Given the description of an element on the screen output the (x, y) to click on. 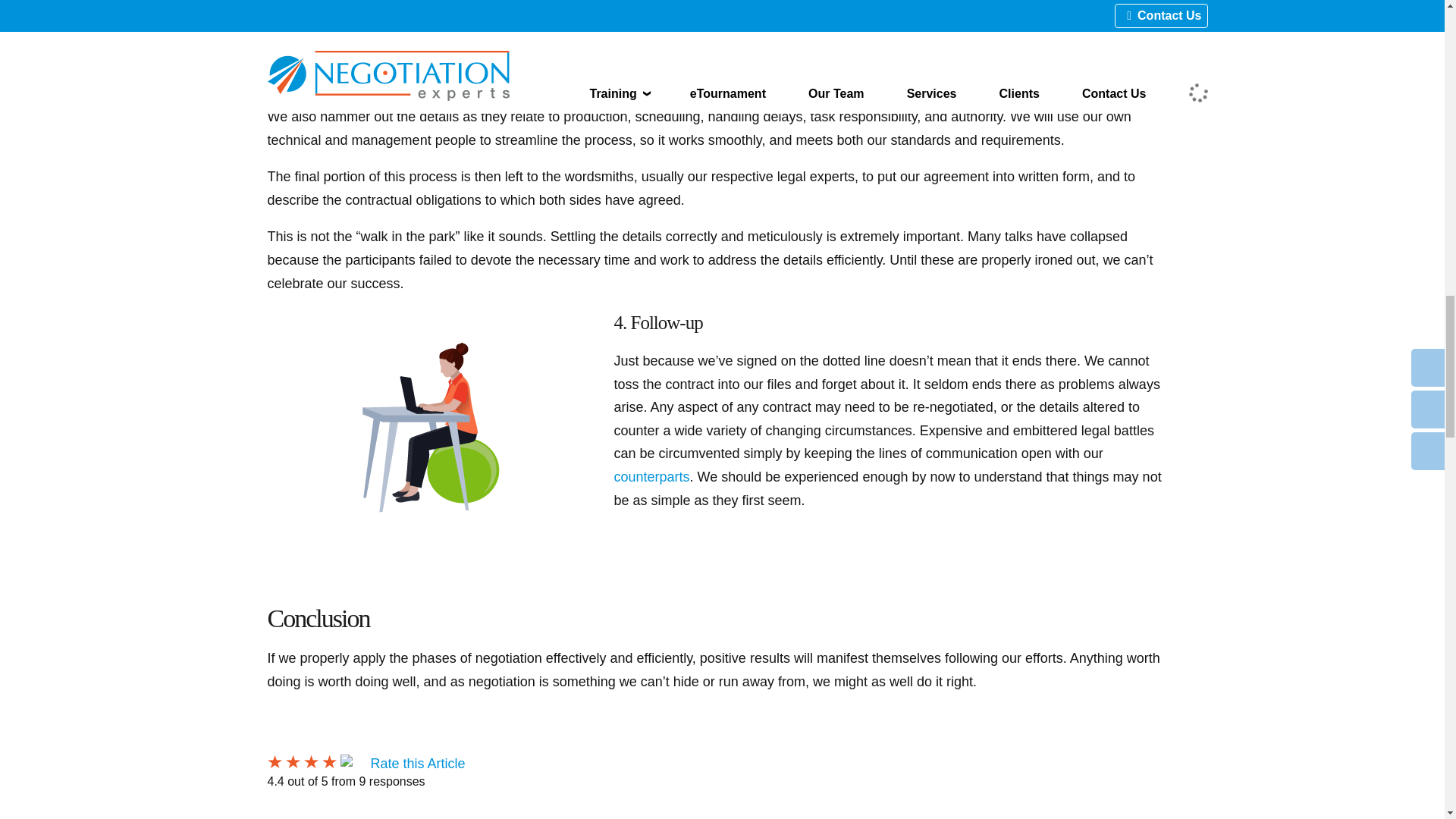
3 Stars (309, 761)
4 Stars (328, 761)
counterpart (652, 476)
5 Stars (346, 761)
1 Star (273, 761)
2 Stars (292, 761)
